Given the description of an element on the screen output the (x, y) to click on. 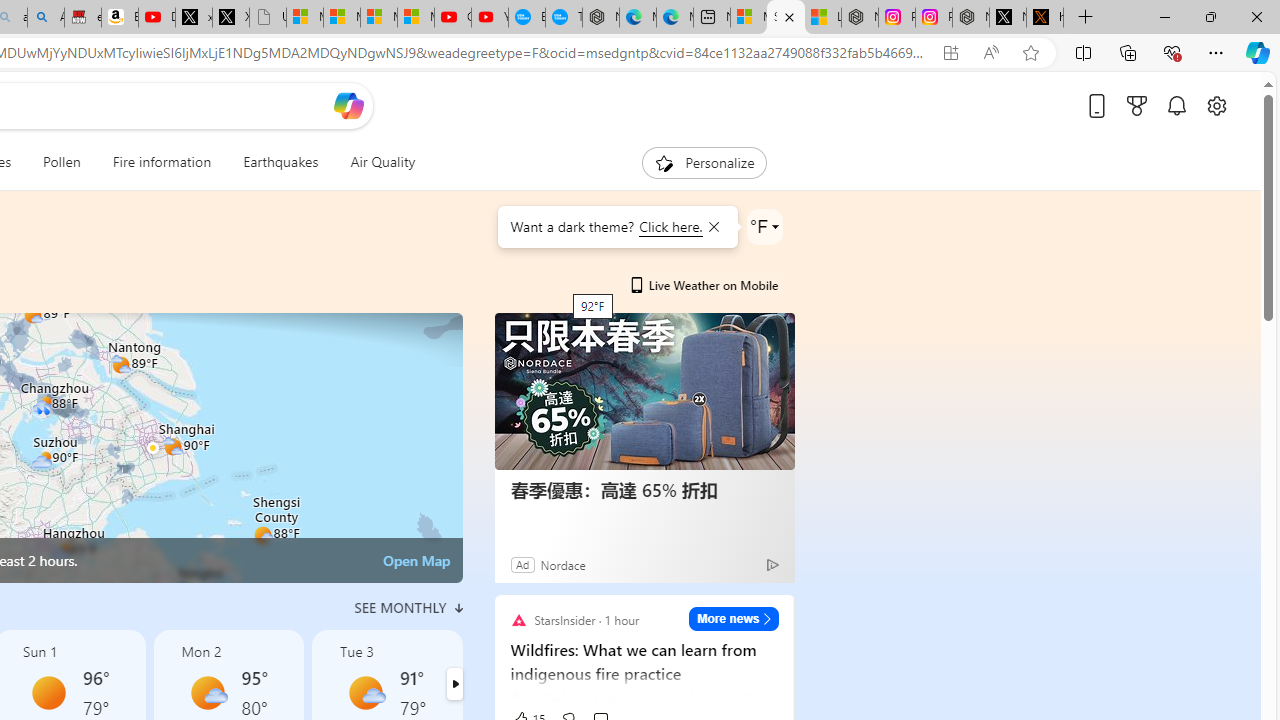
Open Map (416, 560)
Nordace (@NordaceOfficial) / X (1007, 17)
See Monthly (408, 607)
App available. Install Microsoft Start Weather (950, 53)
Class: BubbleMessageCloseIcon-DS-EntryPoint1-1 (712, 227)
